Given the description of an element on the screen output the (x, y) to click on. 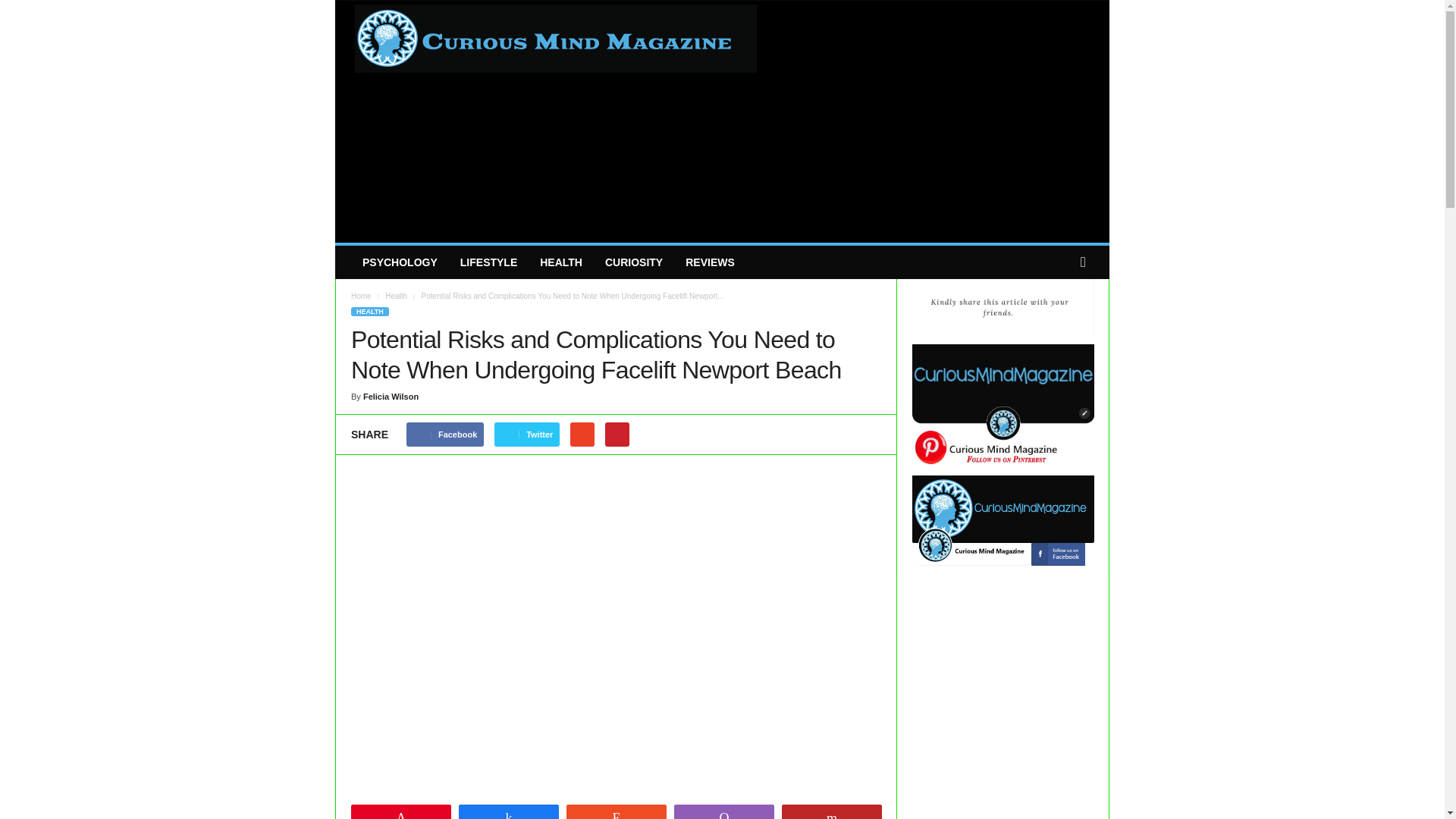
HEALTH (561, 262)
CURIOSITY (634, 262)
LIFESTYLE (488, 262)
View all posts in Health (396, 295)
Curious Mind Magazine (540, 55)
PSYCHOLOGY (399, 262)
